Given the description of an element on the screen output the (x, y) to click on. 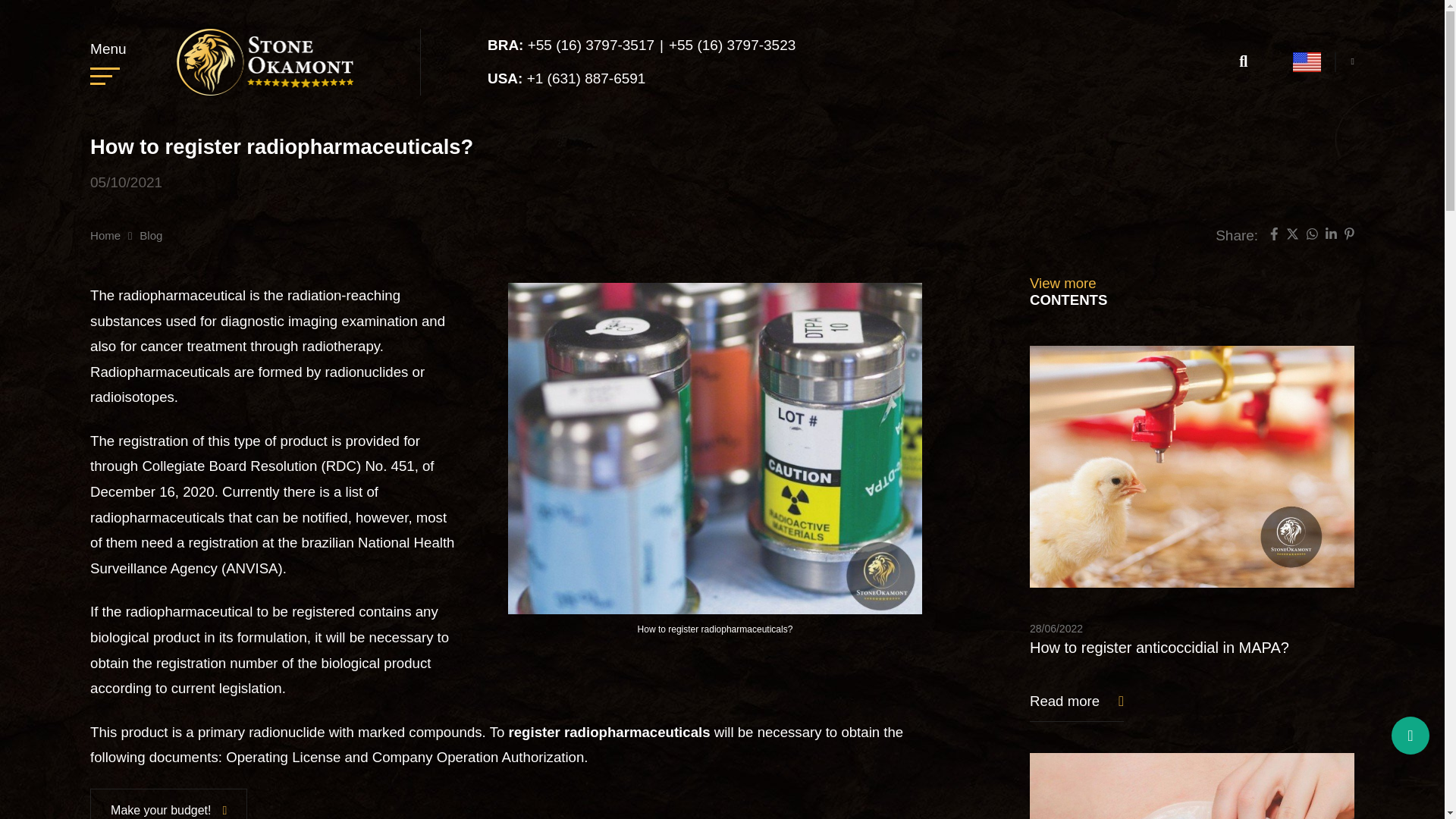
Home (105, 235)
English Version (1306, 62)
Compartilhar no Twitter  (1291, 236)
Menu (108, 61)
